Given the description of an element on the screen output the (x, y) to click on. 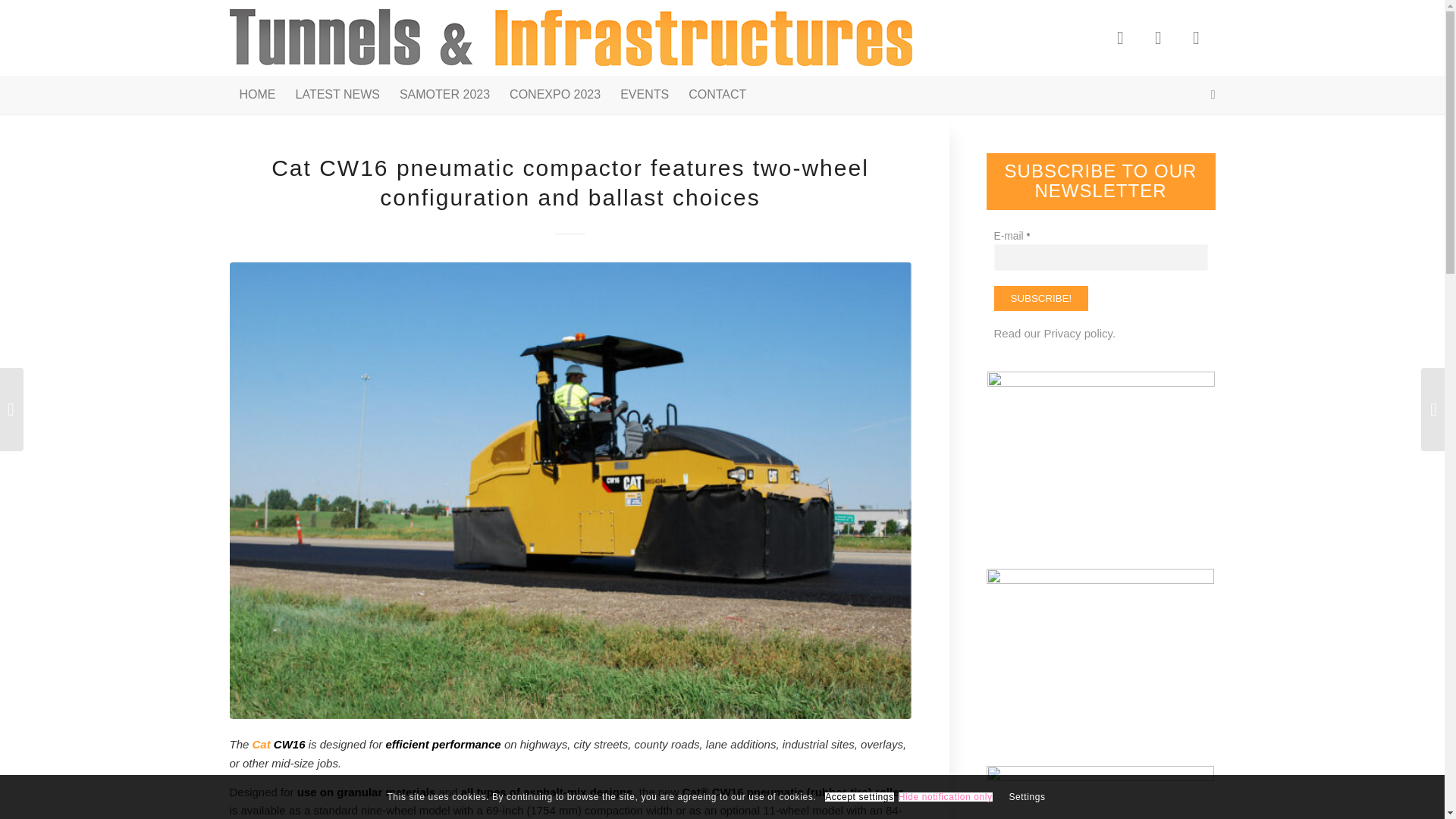
SAMOTER 2023 (444, 94)
SUBSCRIBE! (1039, 298)
Cat (260, 744)
Facebook (1119, 37)
LATEST NEWS (336, 94)
HOME (256, 94)
CONEXPO 2023 (554, 94)
Twitter (1158, 37)
EVENTS (644, 94)
